Given the description of an element on the screen output the (x, y) to click on. 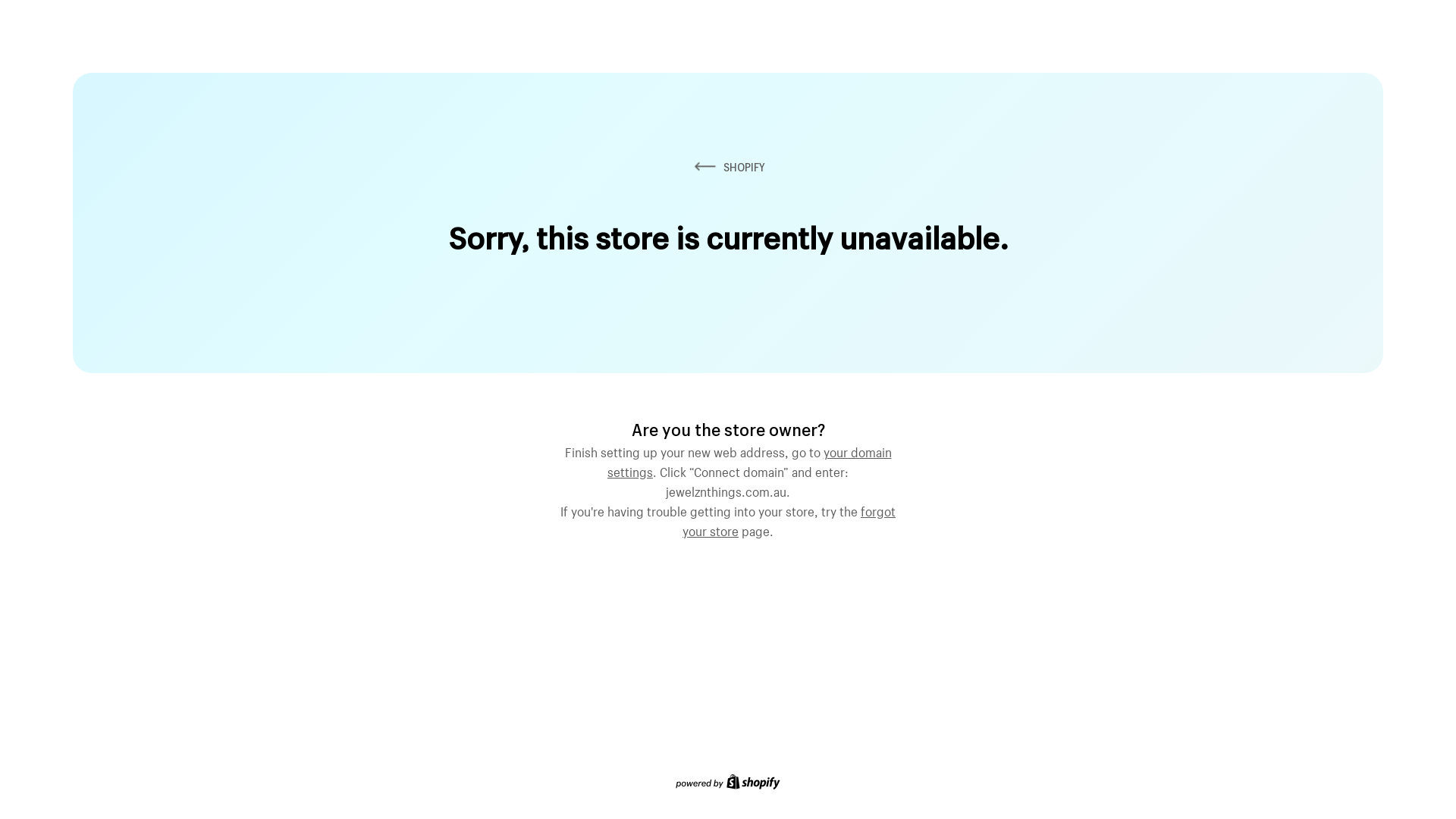
SHOPIFY Element type: text (727, 167)
forgot your store Element type: text (788, 519)
your domain settings Element type: text (749, 460)
